Given the description of an element on the screen output the (x, y) to click on. 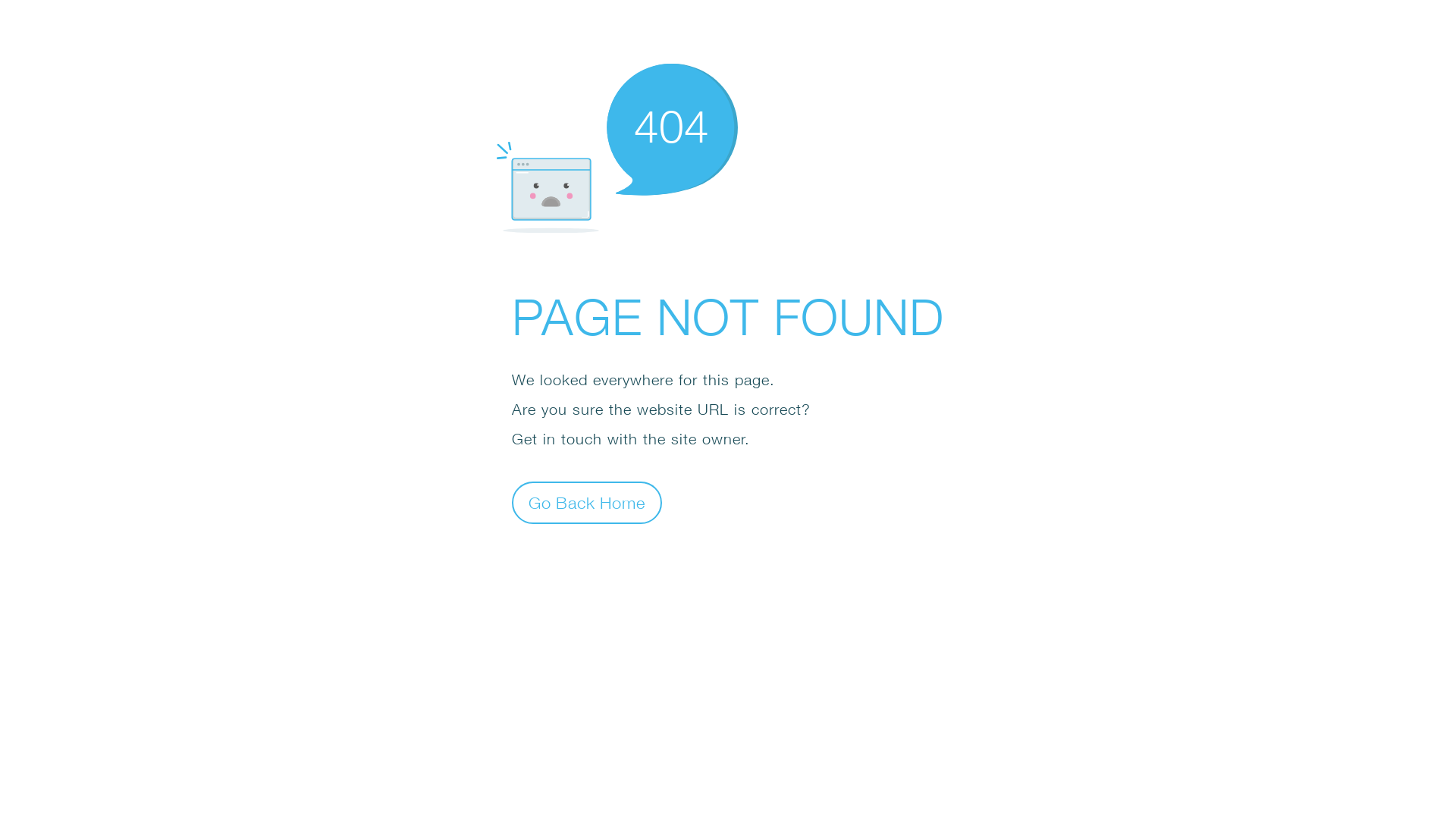
Go Back Home Element type: text (586, 502)
